Given the description of an element on the screen output the (x, y) to click on. 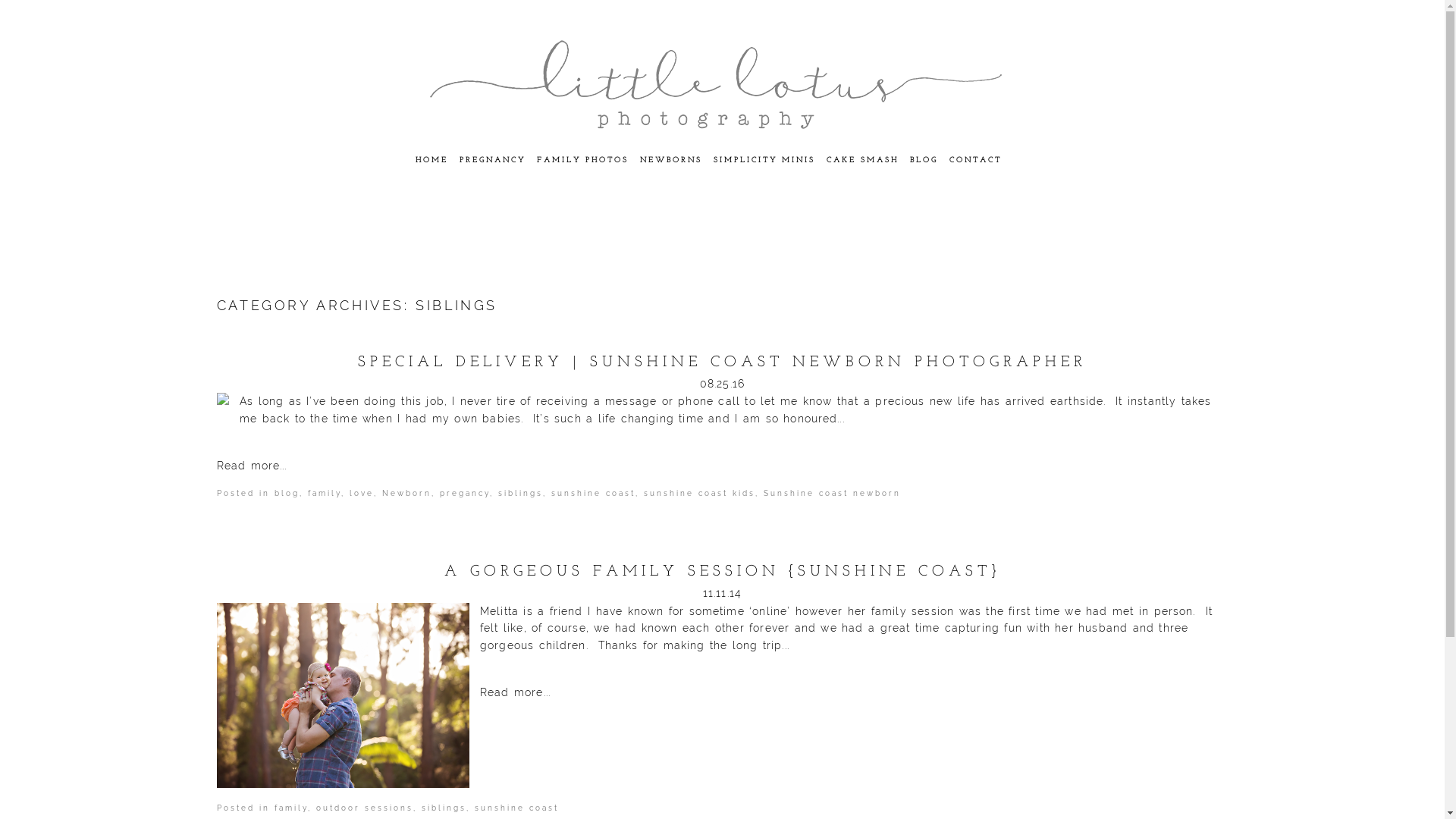
HOME Element type: text (431, 160)
SIMPLICITY MINIS Element type: text (764, 160)
SPECIAL DELIVERY | SUNSHINE COAST NEWBORN PHOTOGRAPHER Element type: text (721, 362)
Sunshine coast newborn Element type: text (831, 493)
BLOG Element type: text (924, 160)
sunshine coast Element type: text (516, 807)
CAKE SMASH Element type: text (862, 160)
PREGNANCY Element type: text (492, 160)
siblings Element type: text (443, 807)
sunshine coast Element type: text (593, 493)
siblings Element type: text (520, 493)
Newborn Element type: text (406, 493)
FAMILY PHOTOS Element type: text (582, 160)
Read more... Element type: text (853, 692)
love Element type: text (361, 493)
outdoor sessions Element type: text (364, 807)
pregancy Element type: text (464, 493)
NEWBORNS Element type: text (671, 160)
CONTACT Element type: text (975, 160)
blog Element type: text (286, 493)
sunshine coast kids Element type: text (699, 493)
family Element type: text (290, 807)
family Element type: text (324, 493)
Read more... Element type: text (722, 465)
